Given the description of an element on the screen output the (x, y) to click on. 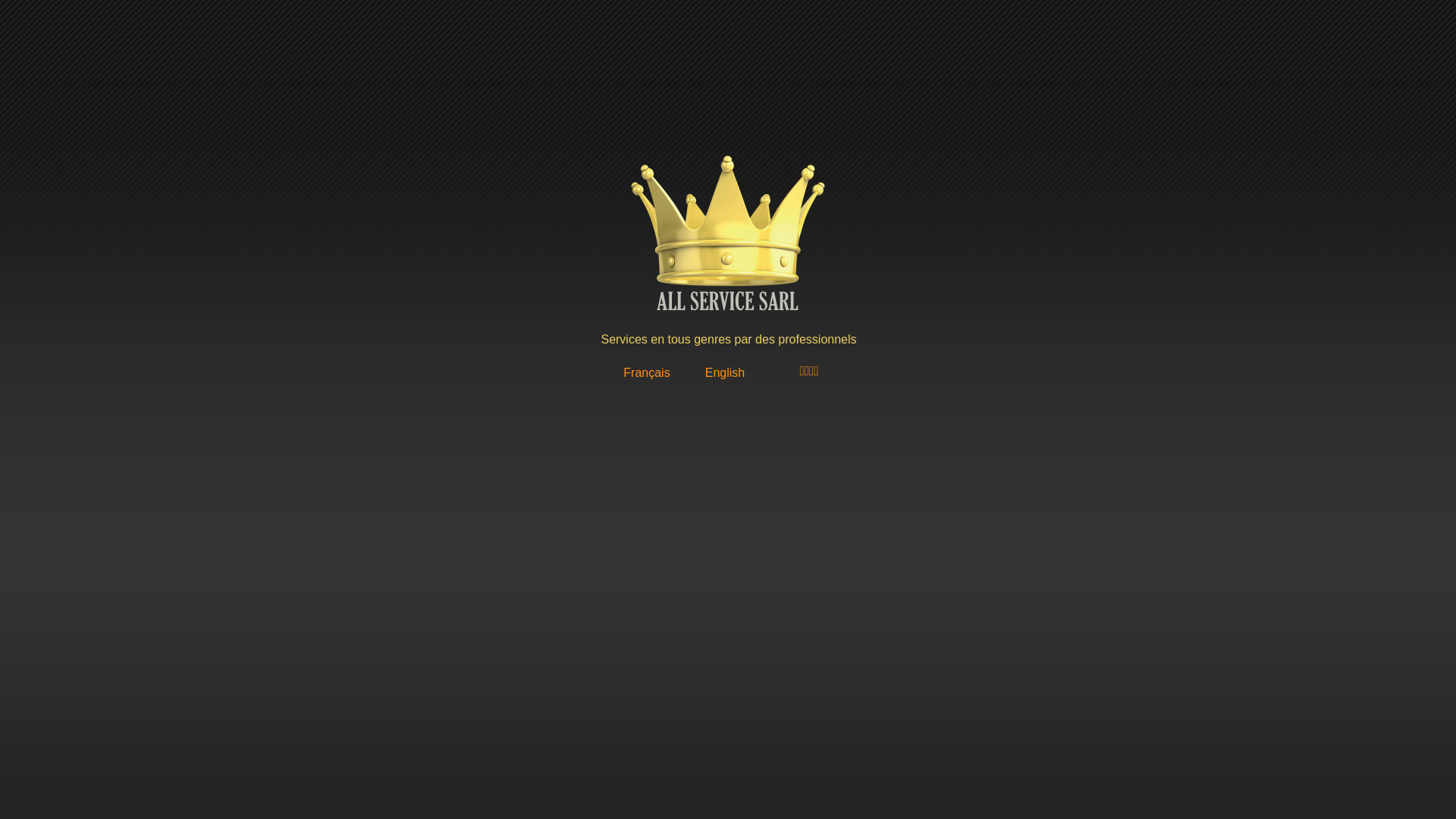
English Element type: text (724, 372)
  Element type: text (387, 396)
  Element type: text (387, 6)
